Given the description of an element on the screen output the (x, y) to click on. 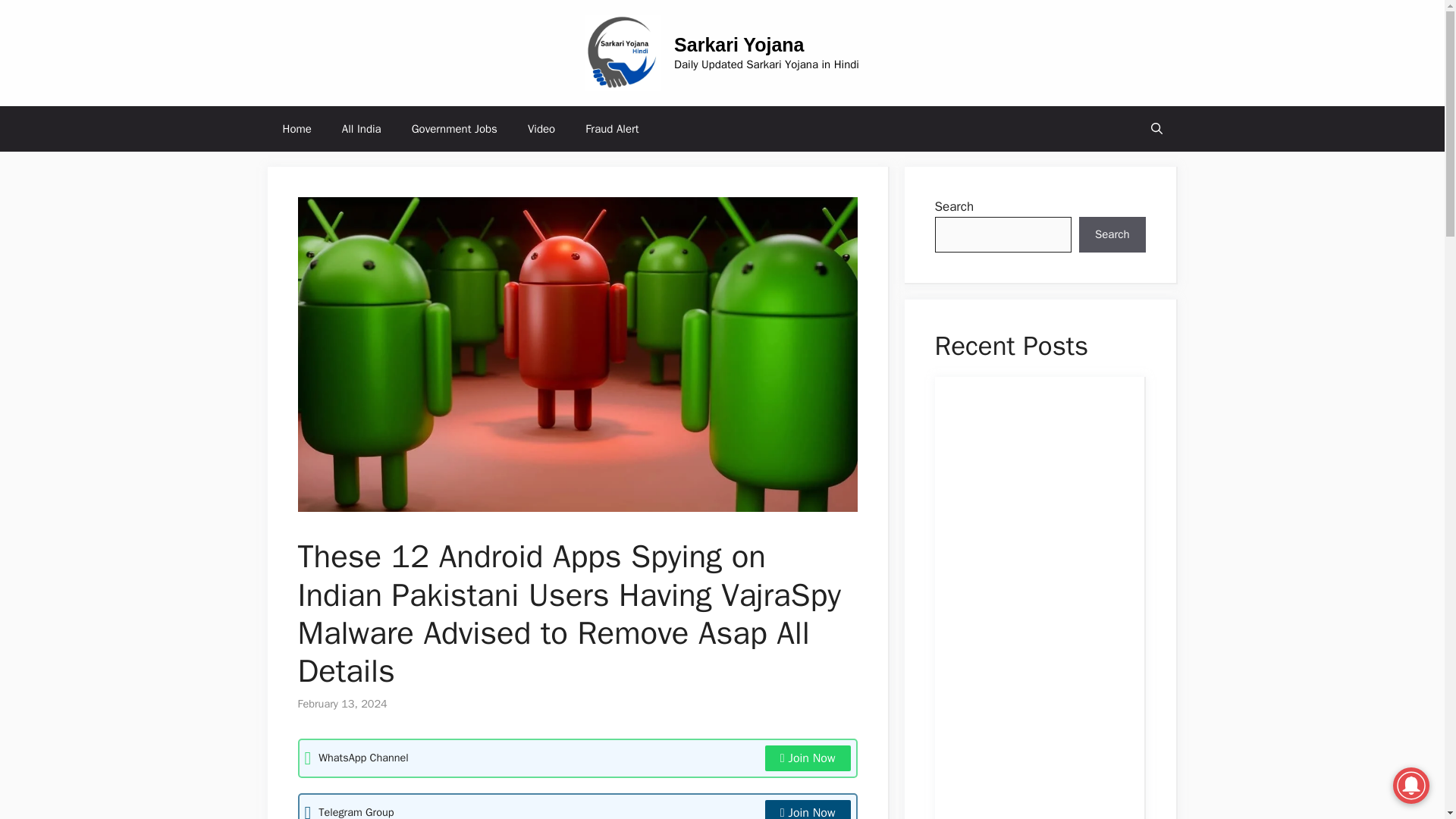
Home (296, 128)
Join Now (807, 809)
Search (1111, 235)
Fraud Alert (611, 128)
Join Now (807, 758)
Video (541, 128)
All India (361, 128)
Sarkari Yojana (738, 44)
Government Jobs (454, 128)
